Given the description of an element on the screen output the (x, y) to click on. 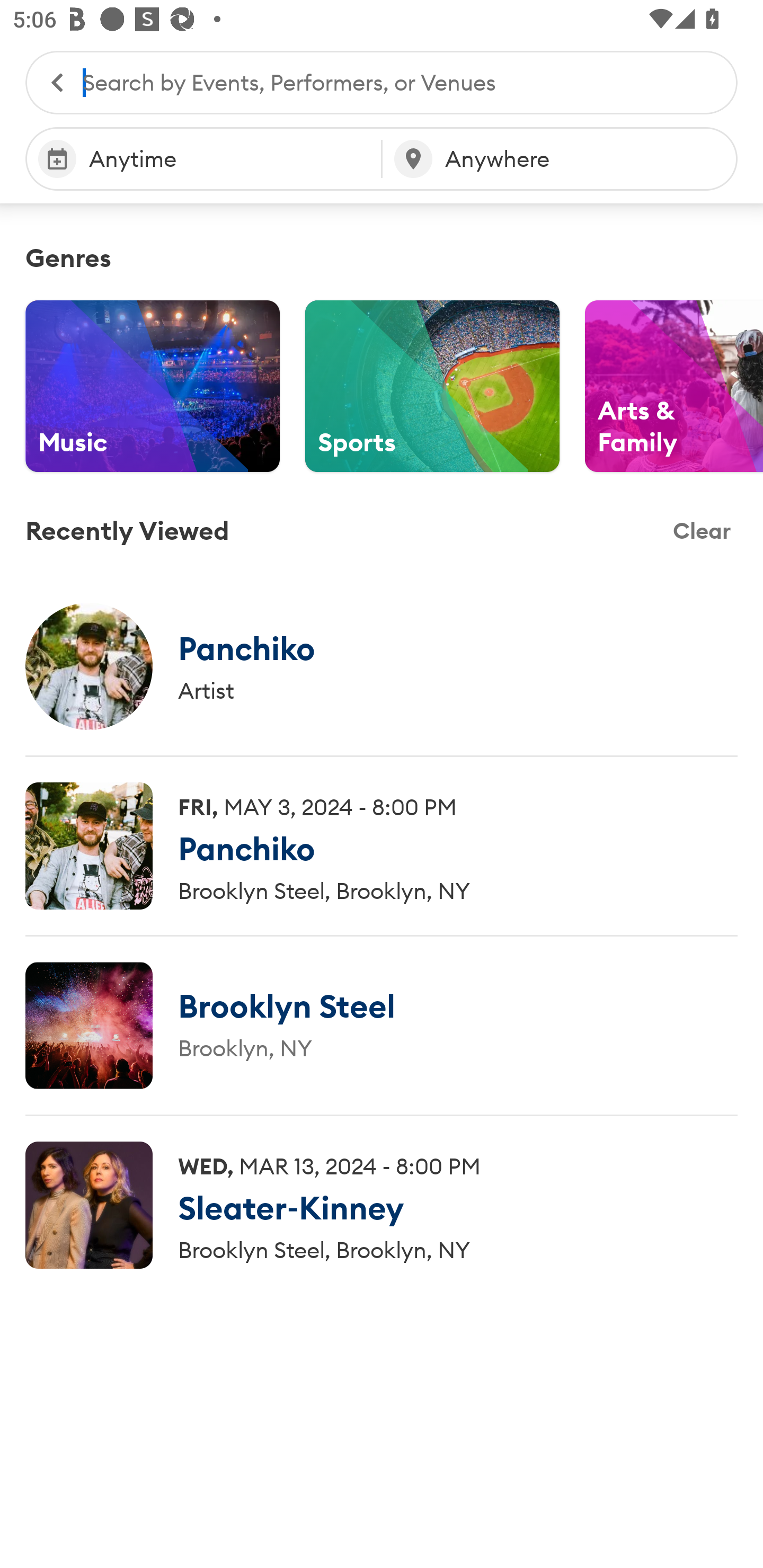
BackButton (47, 81)
Anytime (203, 158)
Anywhere (559, 158)
Music (152, 386)
Sports (432, 386)
Arts & Family (674, 386)
Clear (701, 531)
Panchiko Artist (381, 666)
Brooklyn Steel Brooklyn, NY (381, 1025)
